Given the description of an element on the screen output the (x, y) to click on. 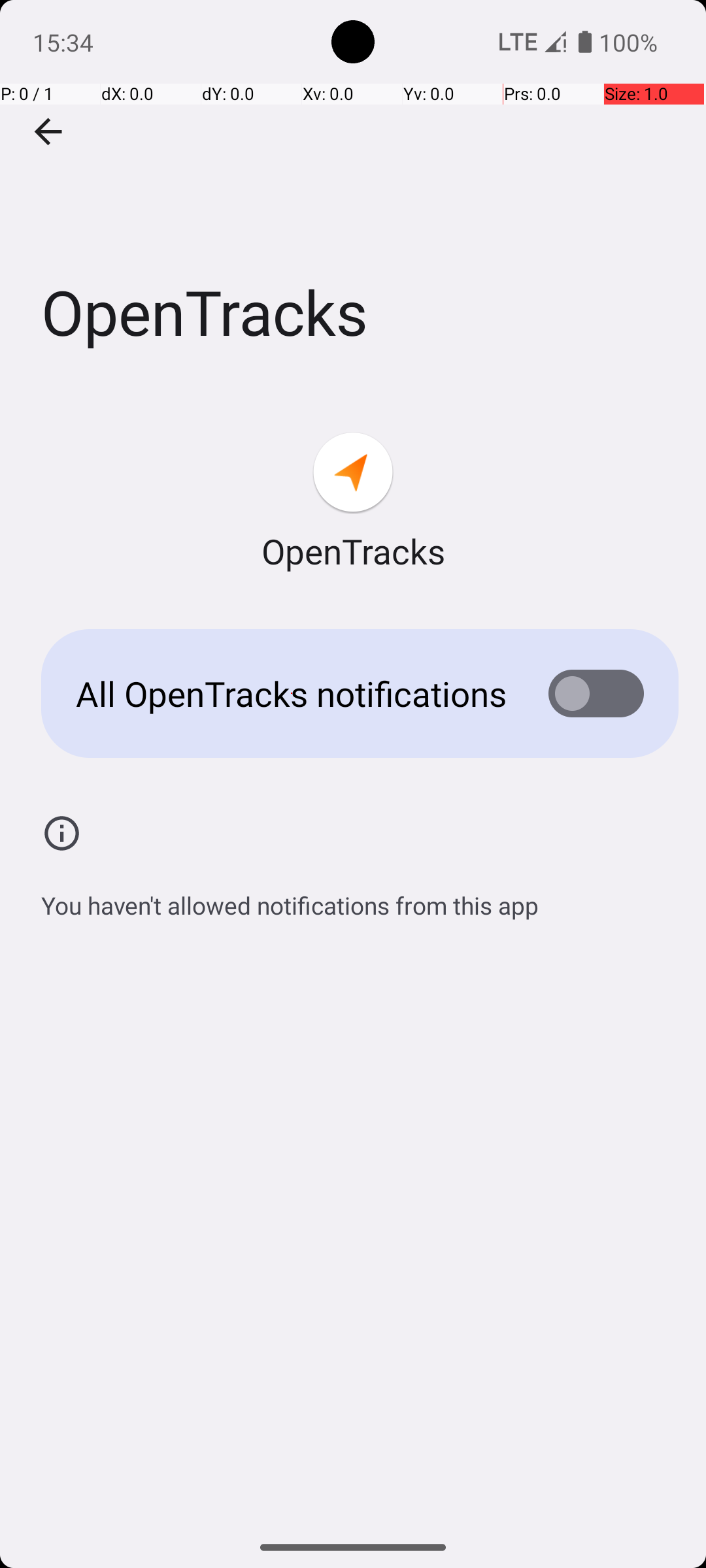
All OpenTracks notifications Element type: android.widget.TextView (291, 693)
You haven't allowed notifications from this app Element type: android.widget.TextView (290, 898)
